Given the description of an element on the screen output the (x, y) to click on. 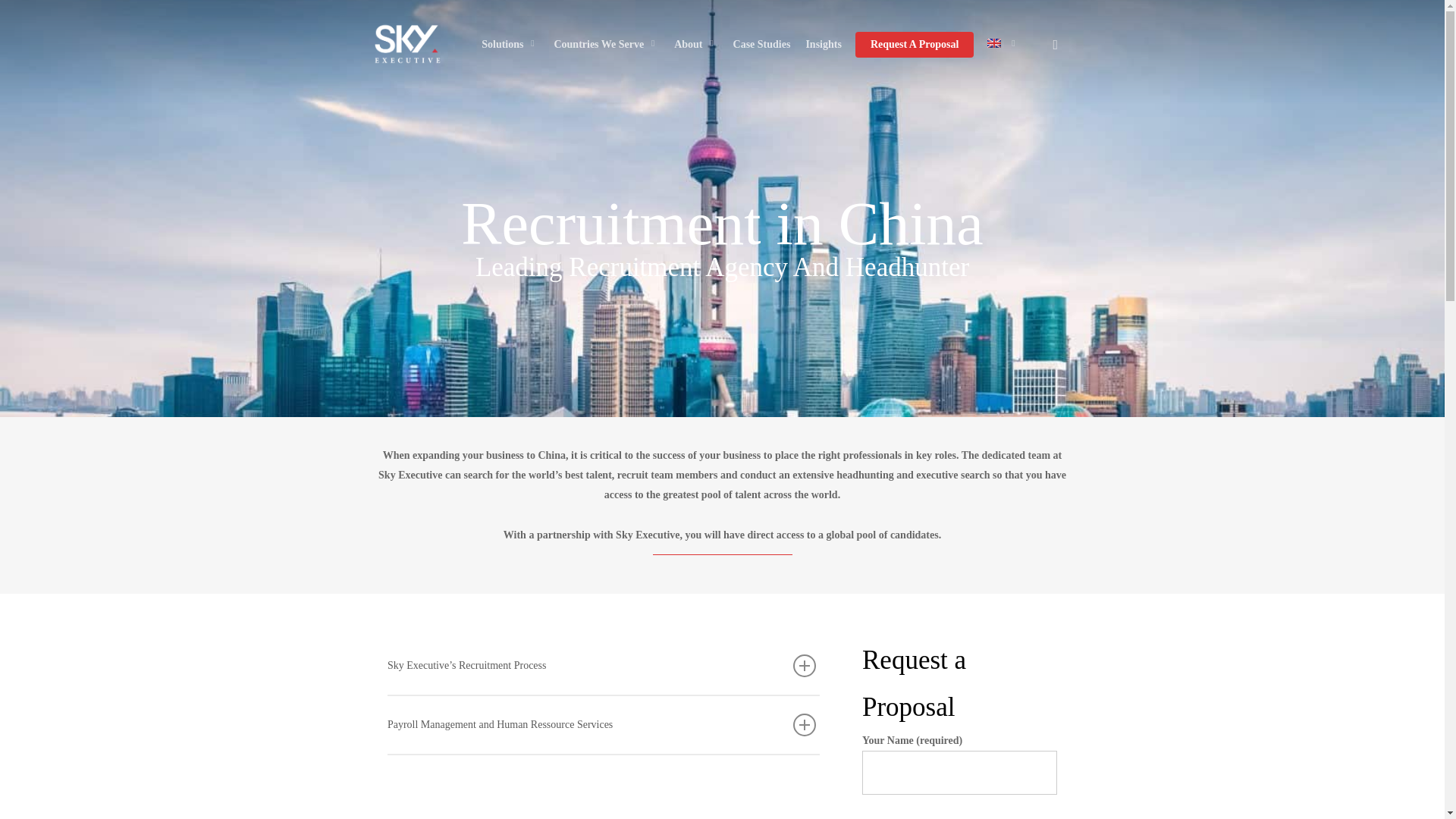
About (695, 43)
Countries We Serve (606, 43)
Solutions (509, 43)
Request A Proposal (915, 43)
Case Studies (761, 43)
Insights (823, 43)
